Given the description of an element on the screen output the (x, y) to click on. 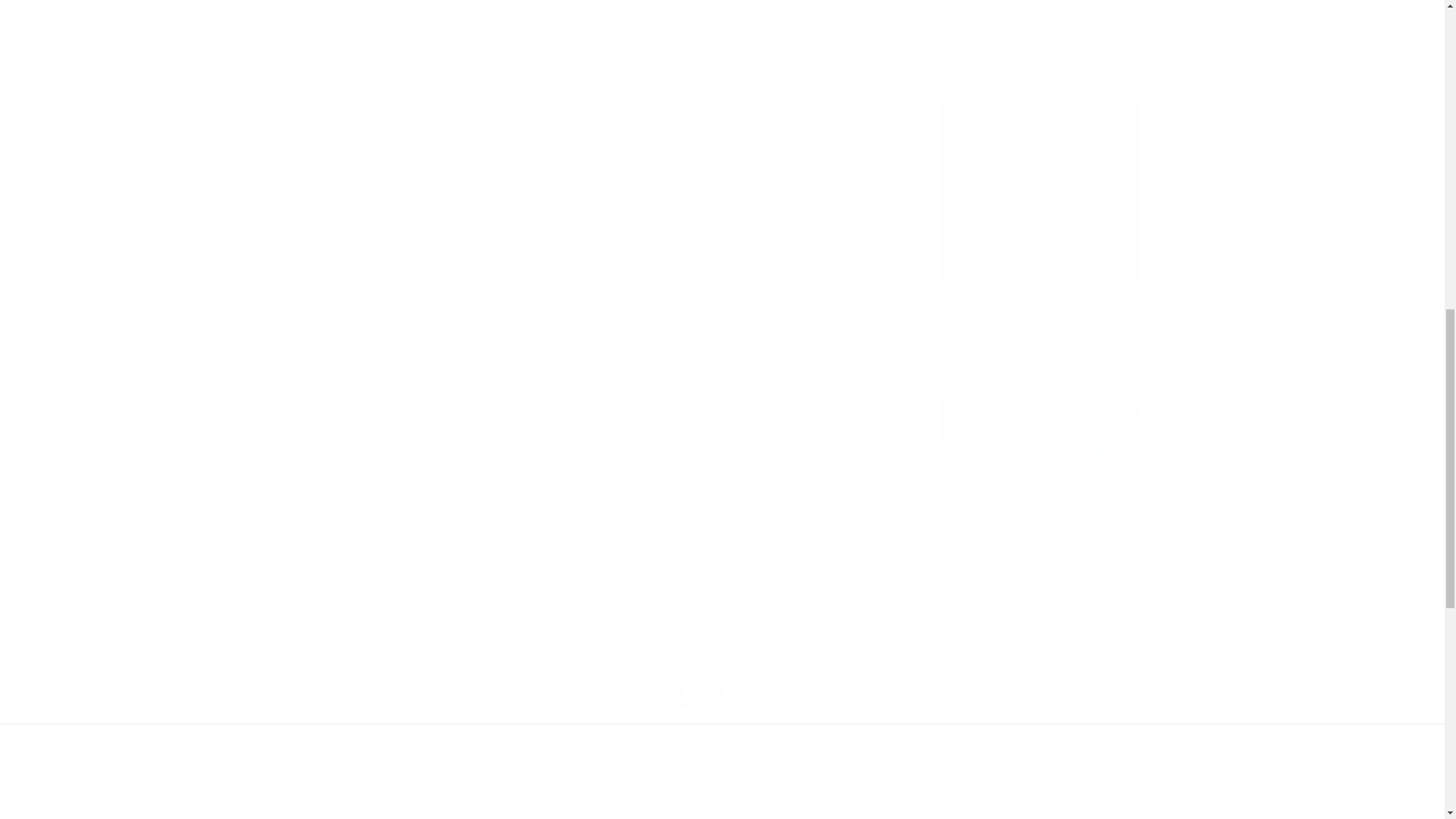
Ancient Greek Torso, Currey and Company (403, 32)
